Given the description of an element on the screen output the (x, y) to click on. 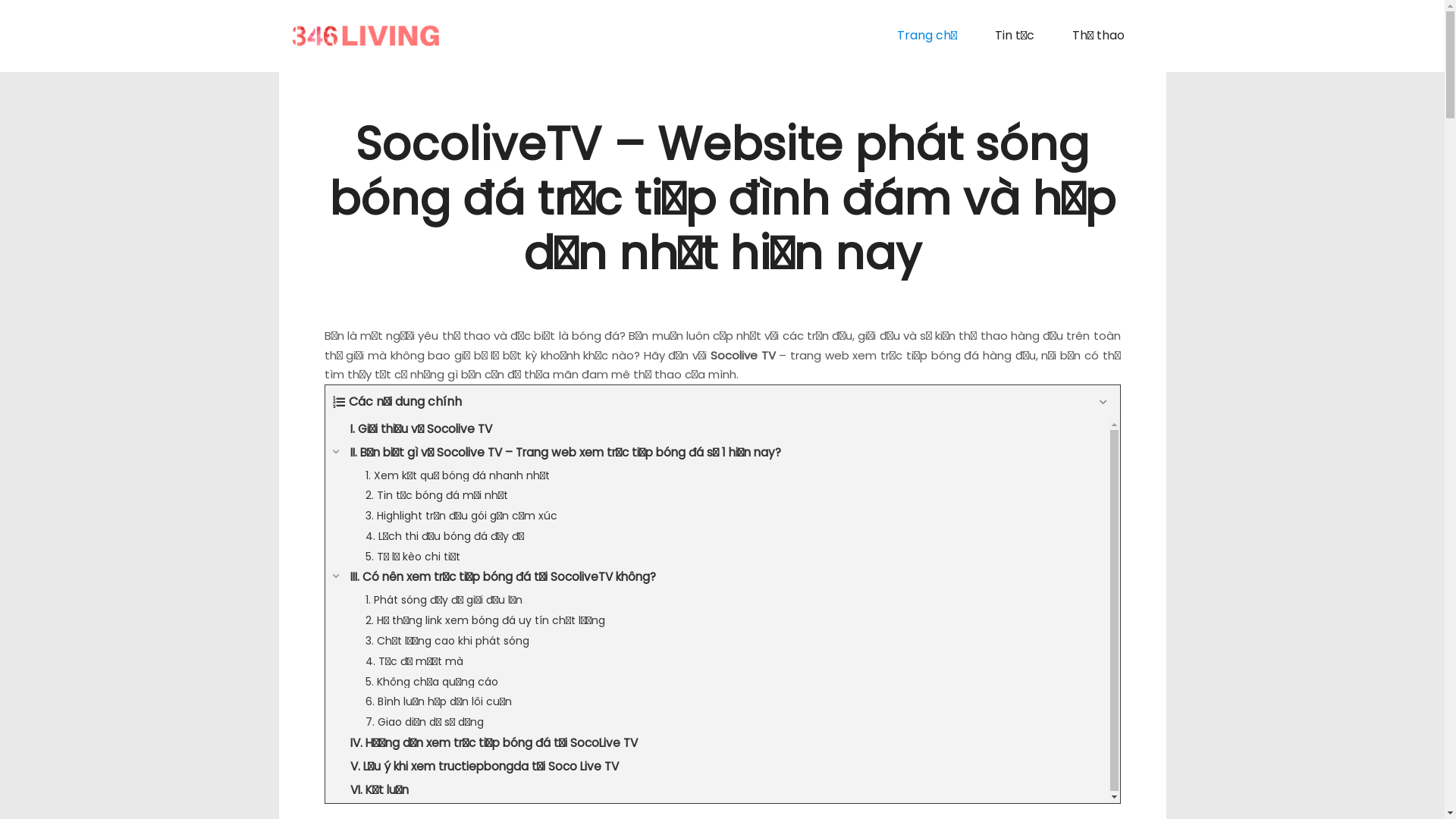
My Blog Element type: hover (365, 36)
